Given the description of an element on the screen output the (x, y) to click on. 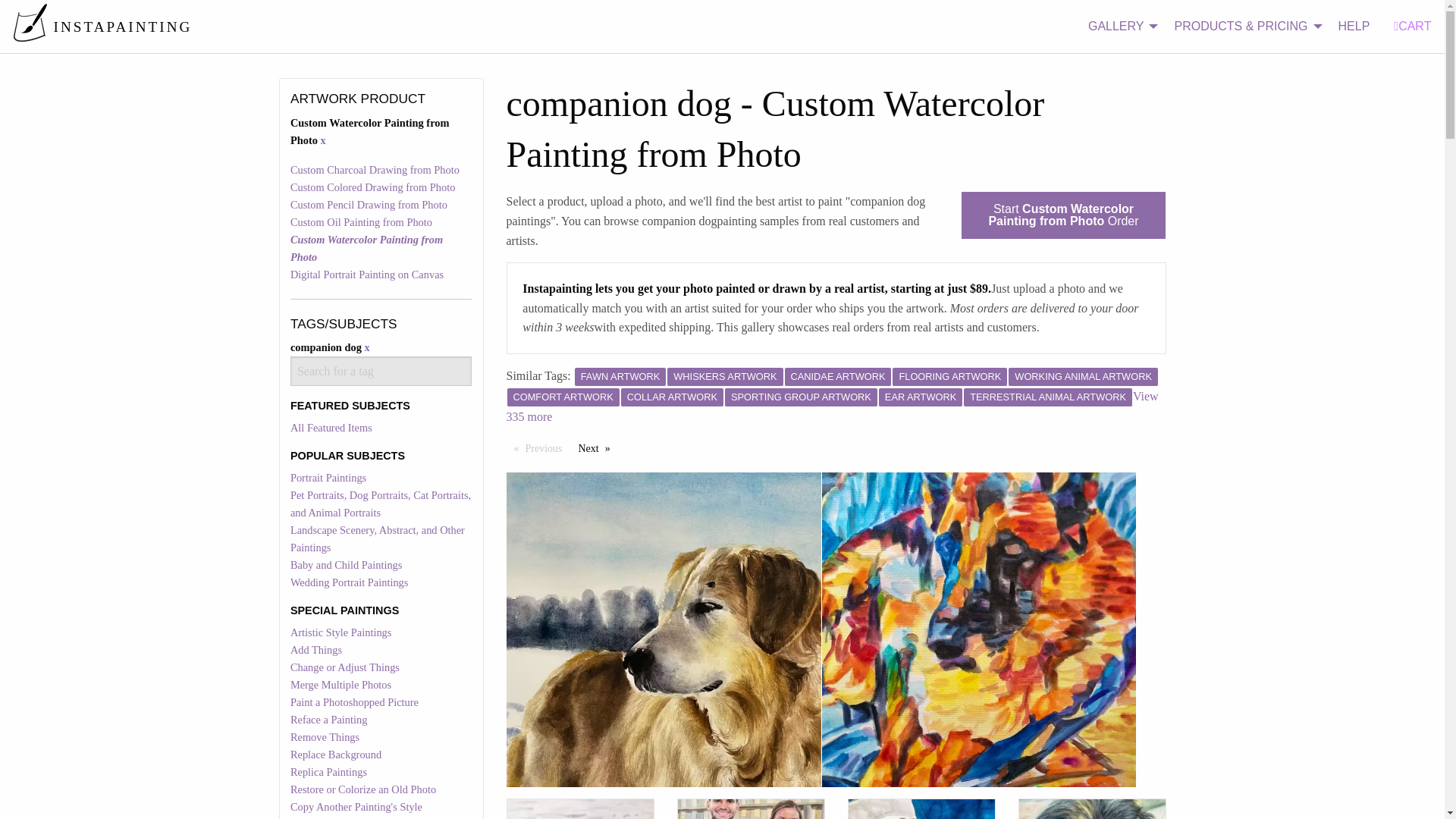
INSTAPAINTING (102, 26)
GALLERY (1118, 26)
